Given the description of an element on the screen output the (x, y) to click on. 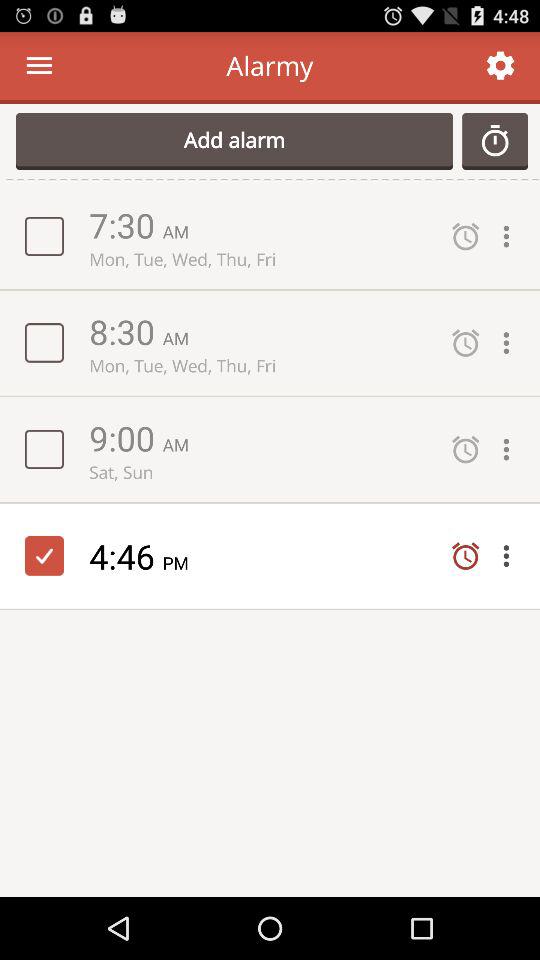
select item above sat, sun app (125, 437)
